Given the description of an element on the screen output the (x, y) to click on. 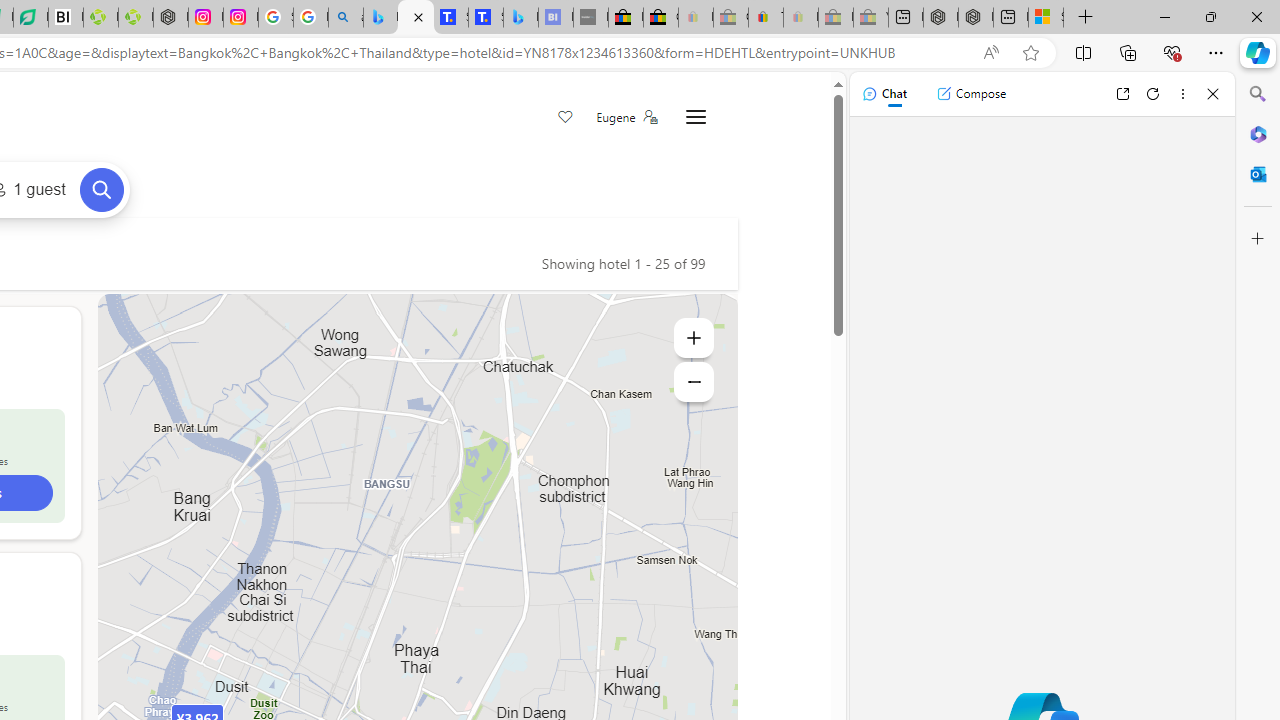
Safety in Our Products - Google Safety Center (275, 17)
Zoom in (693, 337)
Zoom out (693, 381)
Compose (971, 93)
Eugene (626, 117)
